Given the description of an element on the screen output the (x, y) to click on. 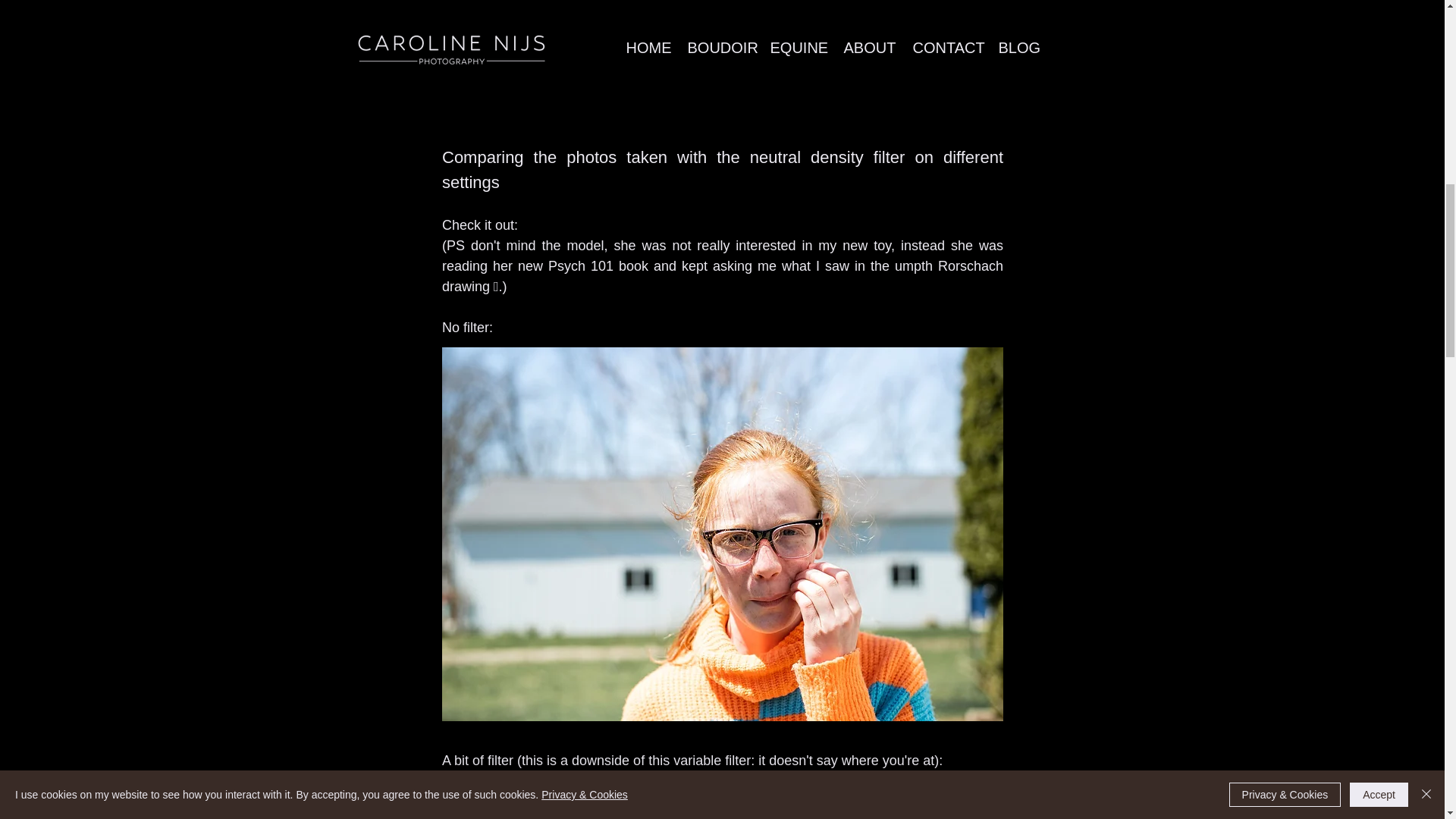
Urth (595, 113)
